Given the description of an element on the screen output the (x, y) to click on. 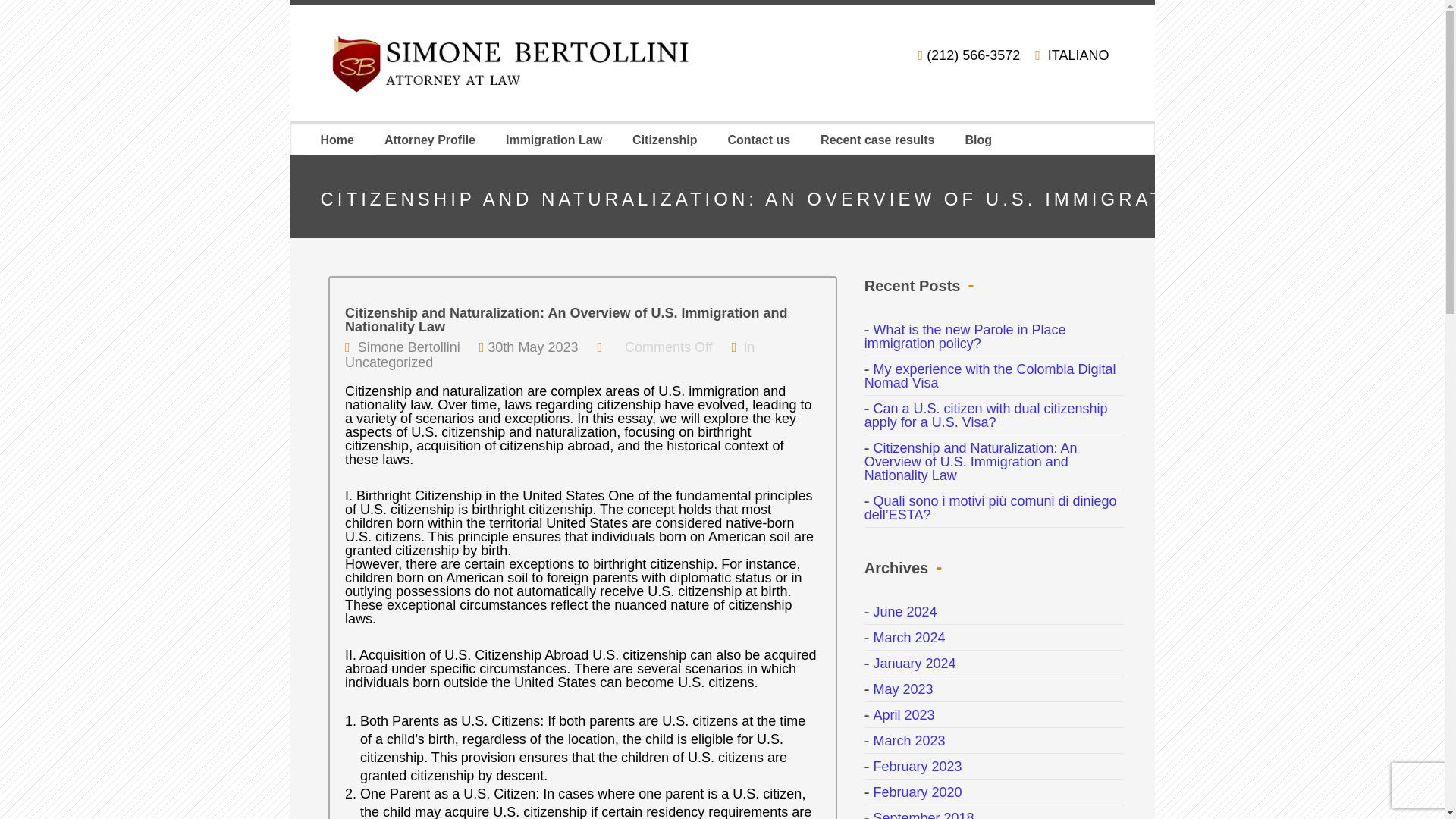
January 2024 (910, 663)
Attorney Profile (430, 140)
Citizenship (664, 140)
Posts by Simone Bertollini (409, 346)
Blog (977, 140)
Recent case results (877, 140)
Contact us (758, 140)
Immigration Law (553, 140)
My experience with the Colombia Digital Nomad Visa (990, 375)
30th May 2023 (532, 346)
Simone Bertollini (409, 346)
ITALIANO (1078, 55)
June 2024 (900, 611)
